Given the description of an element on the screen output the (x, y) to click on. 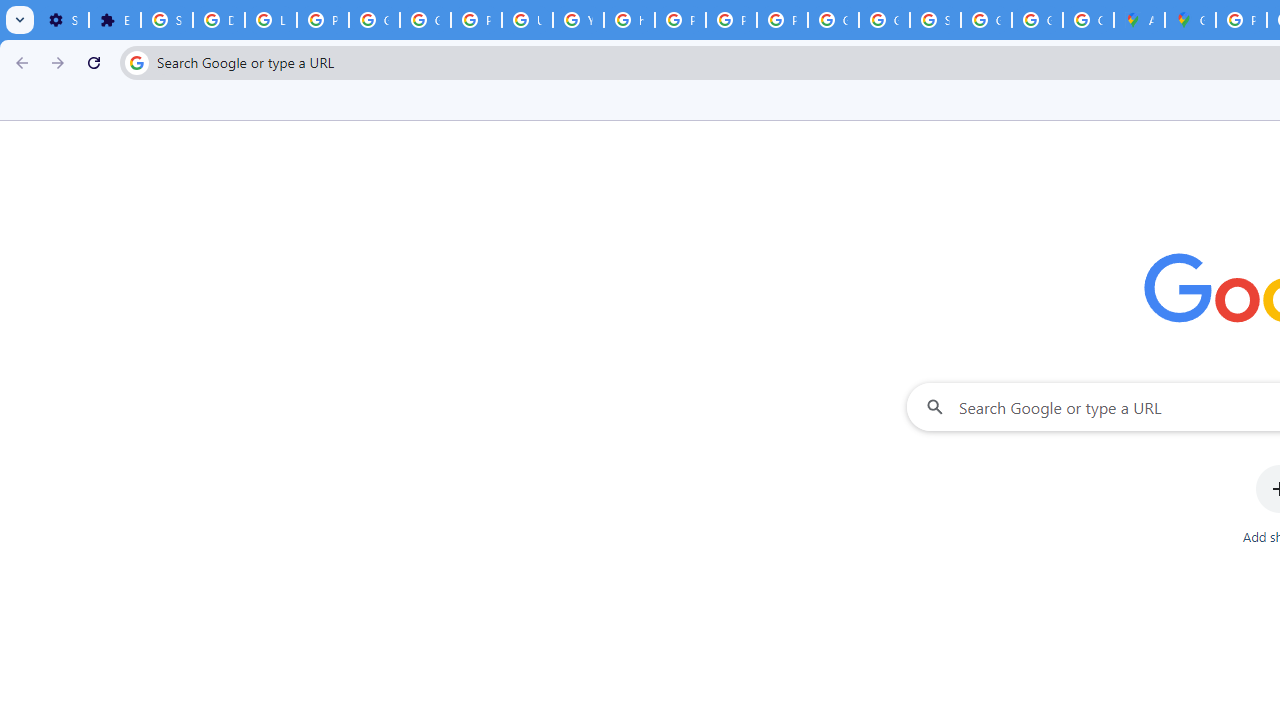
Google Maps (1189, 20)
Sign in - Google Accounts (935, 20)
Sign in - Google Accounts (166, 20)
Policy Accountability and Transparency - Transparency Center (1241, 20)
Settings - On startup (63, 20)
Delete photos & videos - Computer - Google Photos Help (218, 20)
https://scholar.google.com/ (629, 20)
